Given the description of an element on the screen output the (x, y) to click on. 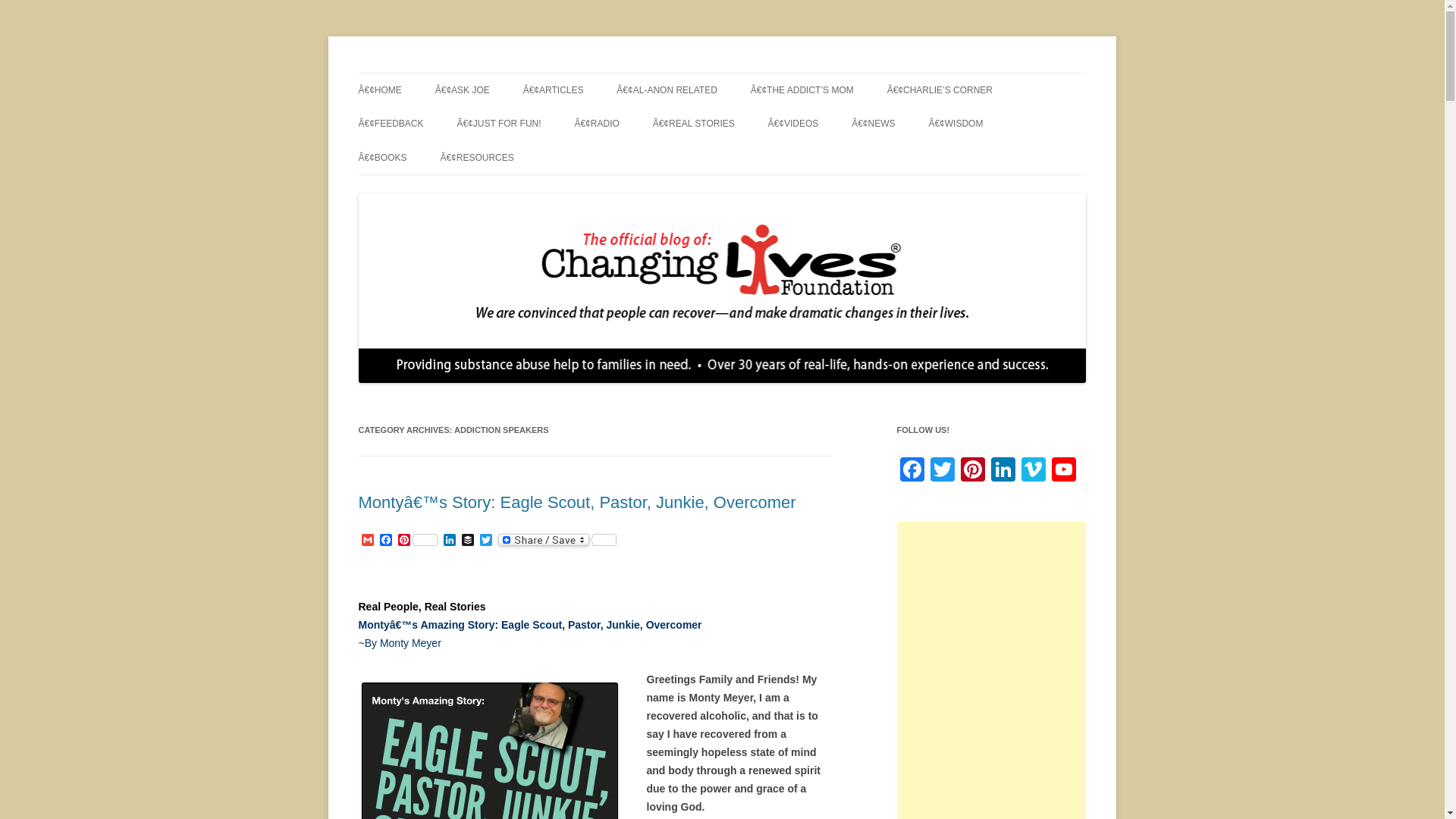
Gmail (366, 540)
Facebook (384, 540)
Changing Lives Foundation Blog (512, 72)
LinkedIn (448, 540)
Gmail (366, 540)
Twitter (485, 540)
Changing Lives Foundation Blog (512, 72)
Twitter (485, 540)
